Given the description of an element on the screen output the (x, y) to click on. 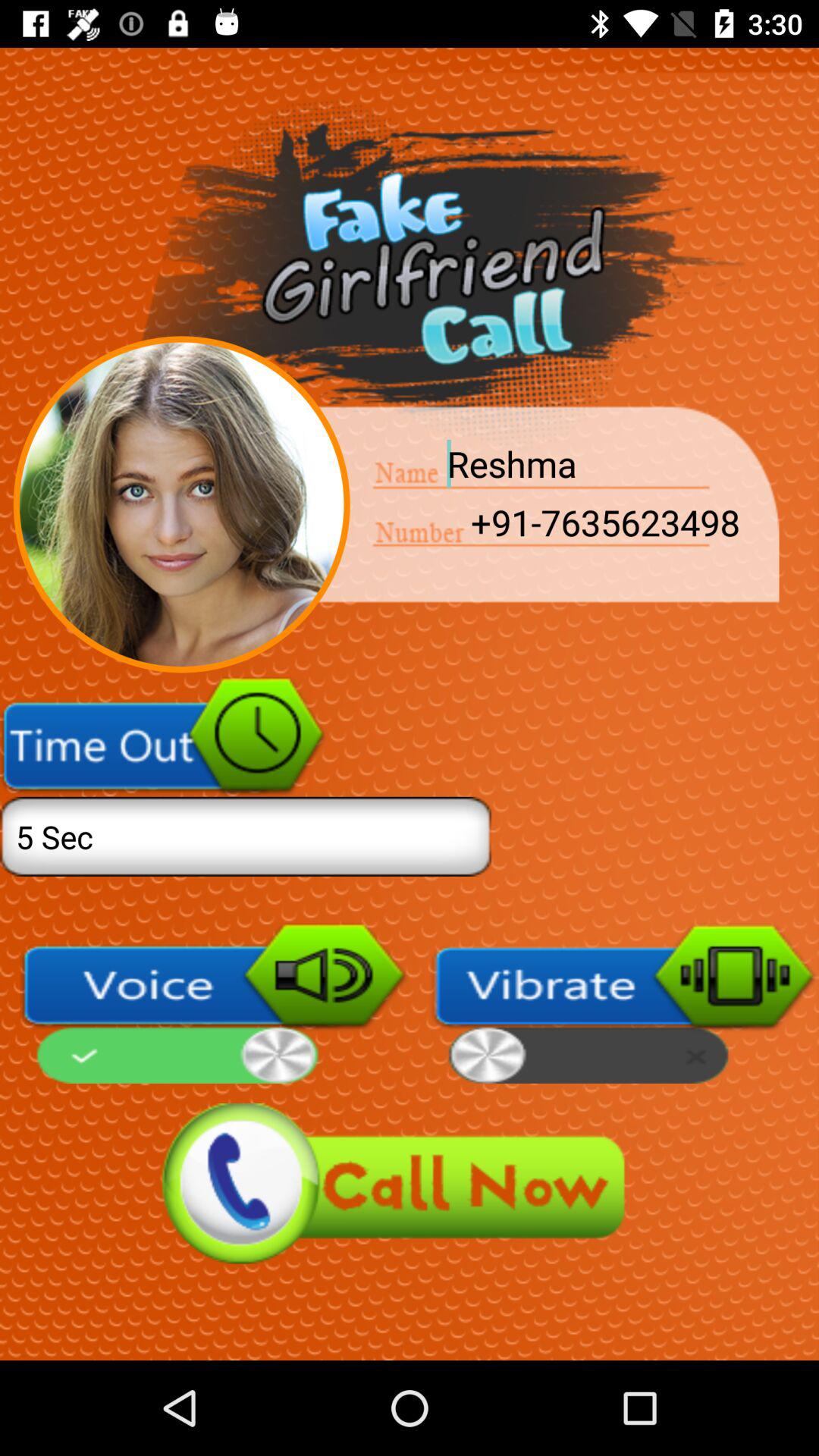
toggle vibrate option (624, 1003)
